Given the description of an element on the screen output the (x, y) to click on. 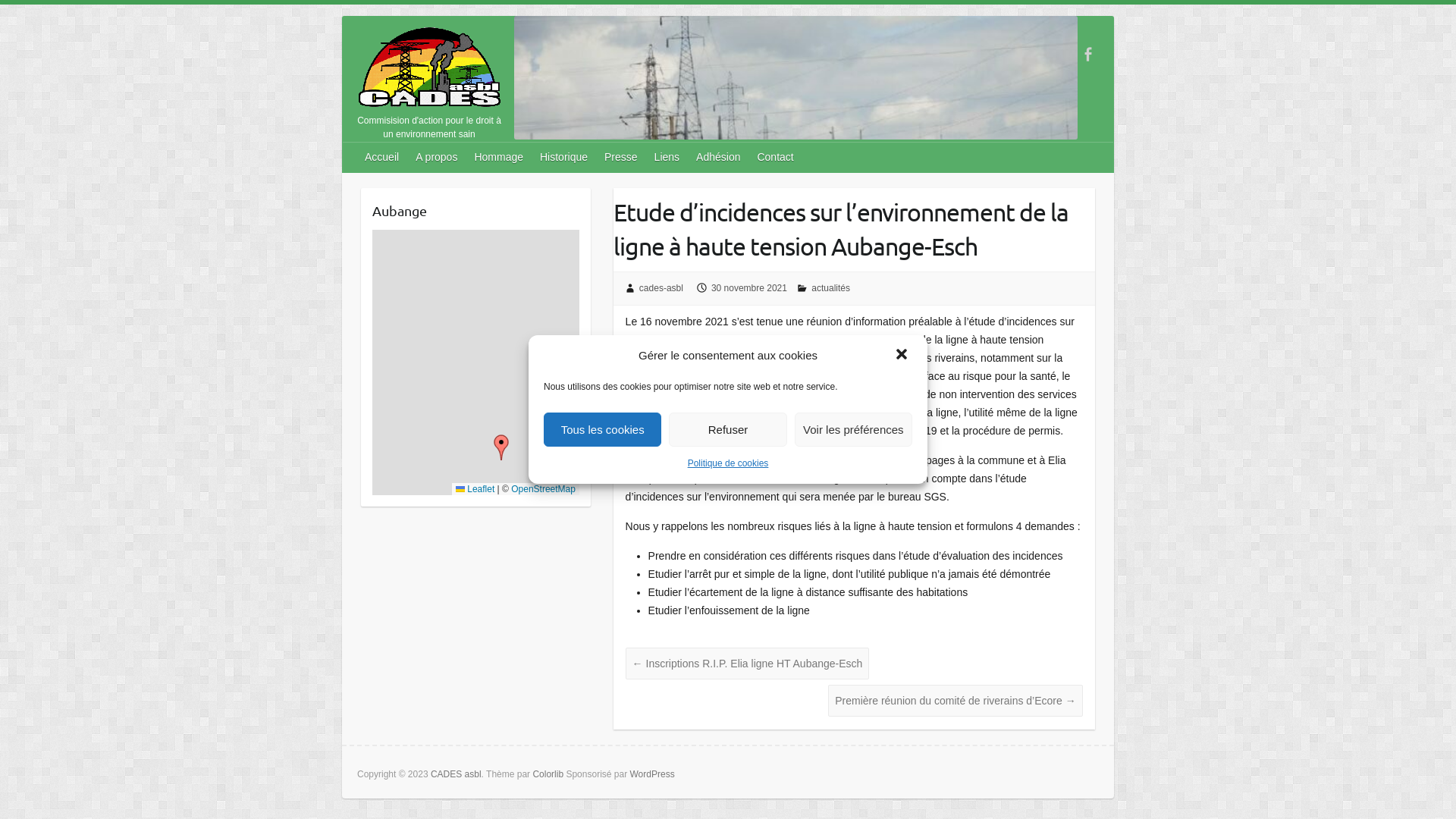
Tous les cookies Element type: text (602, 429)
Politique de cookies Element type: text (727, 463)
Colorlib Element type: text (547, 773)
Hommage Element type: text (499, 156)
CADES asbl Element type: text (455, 773)
Leaflet Element type: text (474, 488)
Contact Element type: text (775, 156)
Presse Element type: text (621, 156)
CADES asbl Element type: hover (429, 70)
Liens Element type: text (667, 156)
Refuser Element type: text (727, 429)
30 novembre 2021 Element type: text (749, 287)
cades-asbl Element type: text (661, 287)
Accueil Element type: text (382, 156)
CADES asbl sur Facebook Element type: hover (1087, 53)
Historique Element type: text (564, 156)
OpenStreetMap Element type: text (543, 488)
WordPress Element type: text (651, 773)
A propos Element type: text (436, 156)
